Given the description of an element on the screen output the (x, y) to click on. 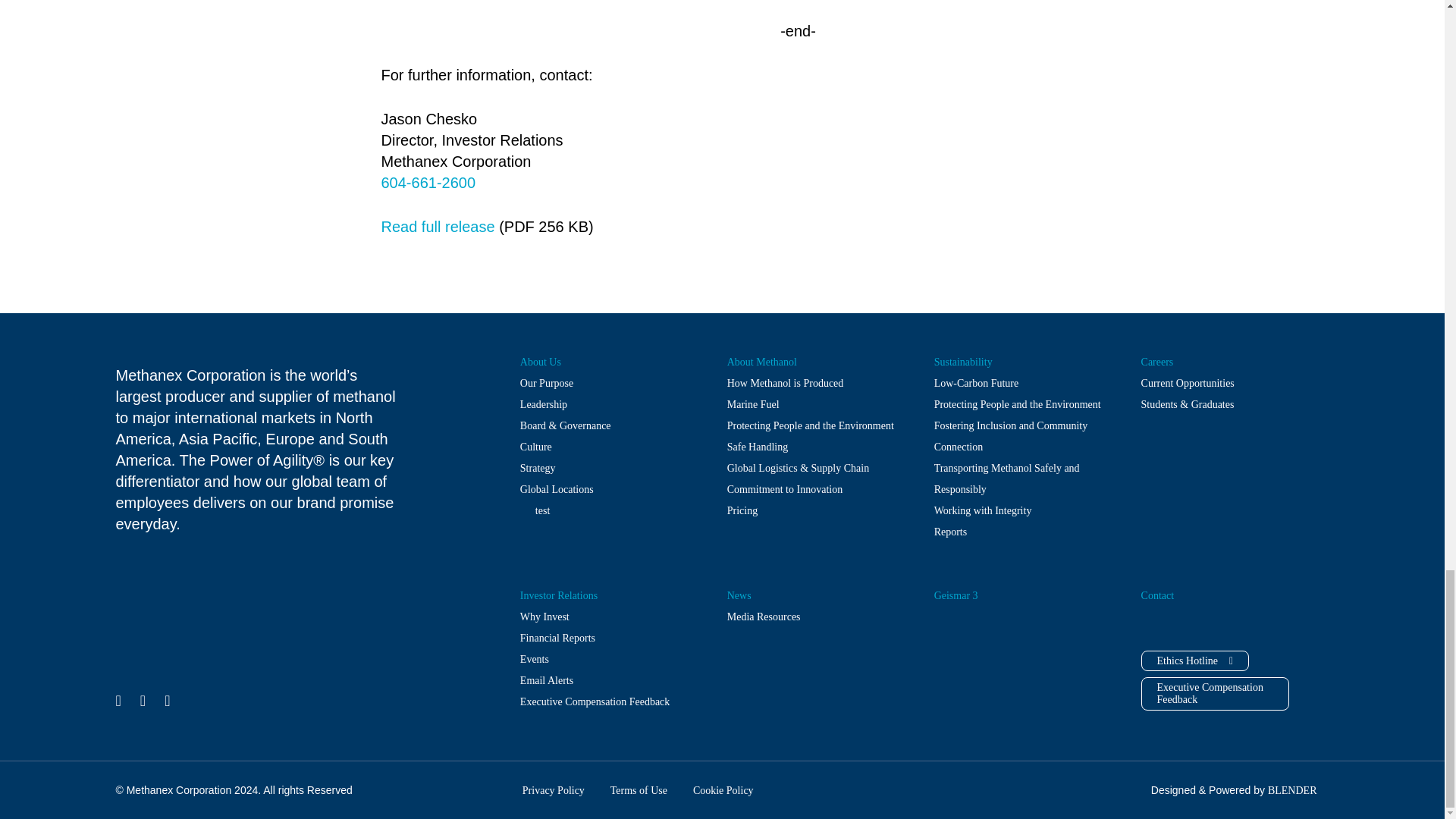
Vimeo (142, 700)
LinkedIn (117, 700)
Blender Media (1292, 790)
Twitter (167, 700)
